Given the description of an element on the screen output the (x, y) to click on. 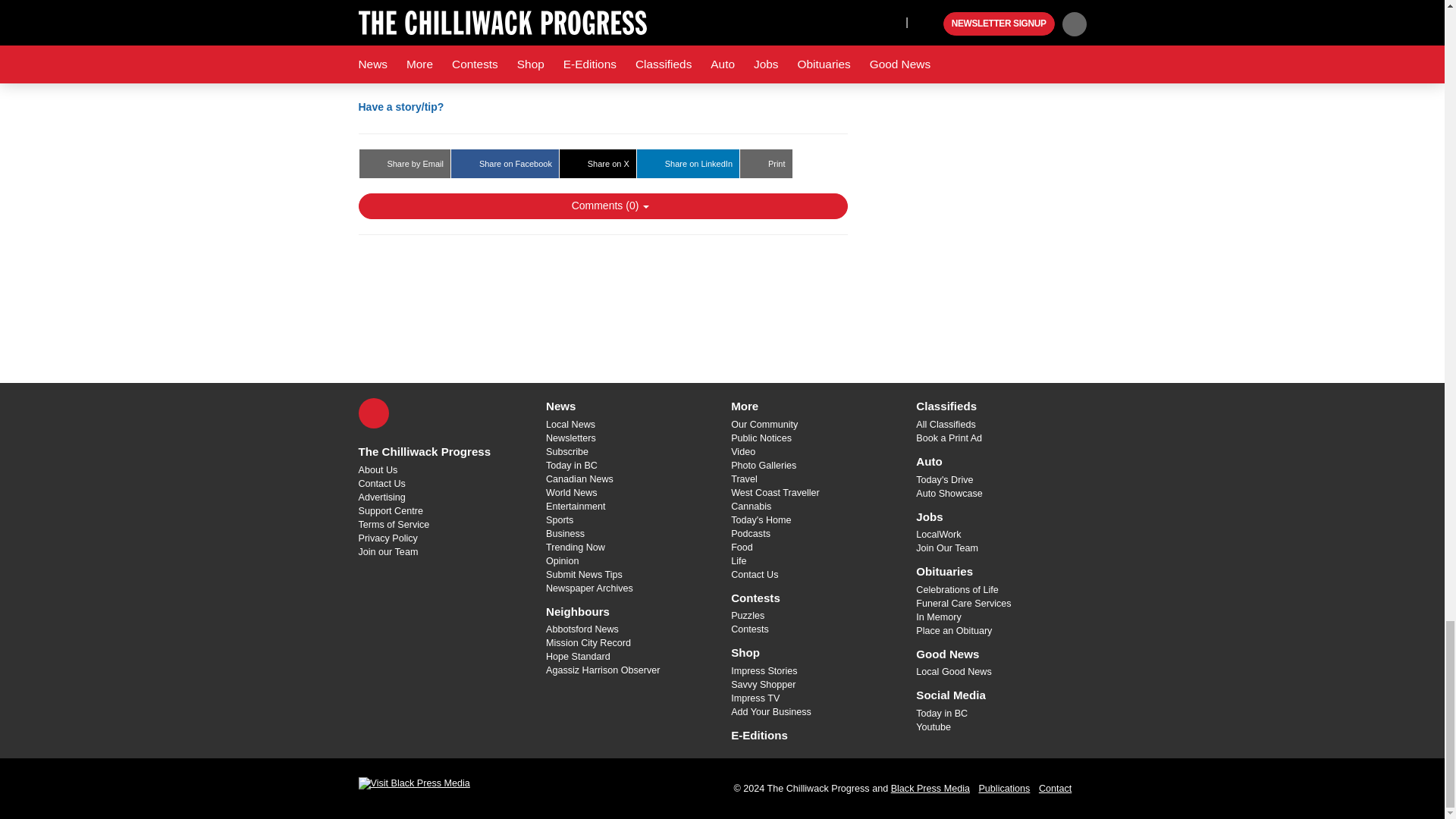
X (373, 413)
related story (587, 33)
Show Comments (602, 206)
